Given the description of an element on the screen output the (x, y) to click on. 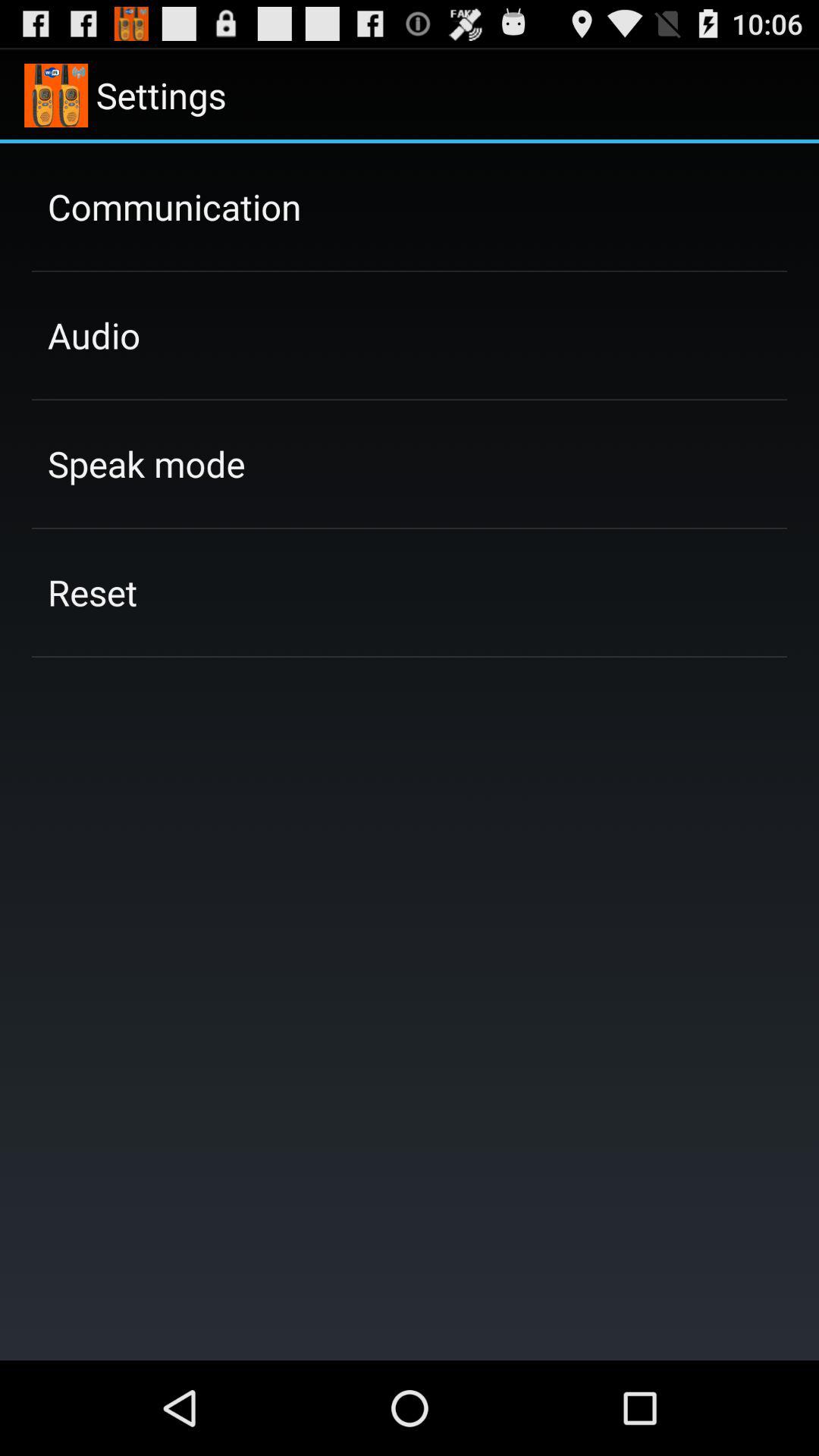
scroll to the communication app (174, 206)
